Given the description of an element on the screen output the (x, y) to click on. 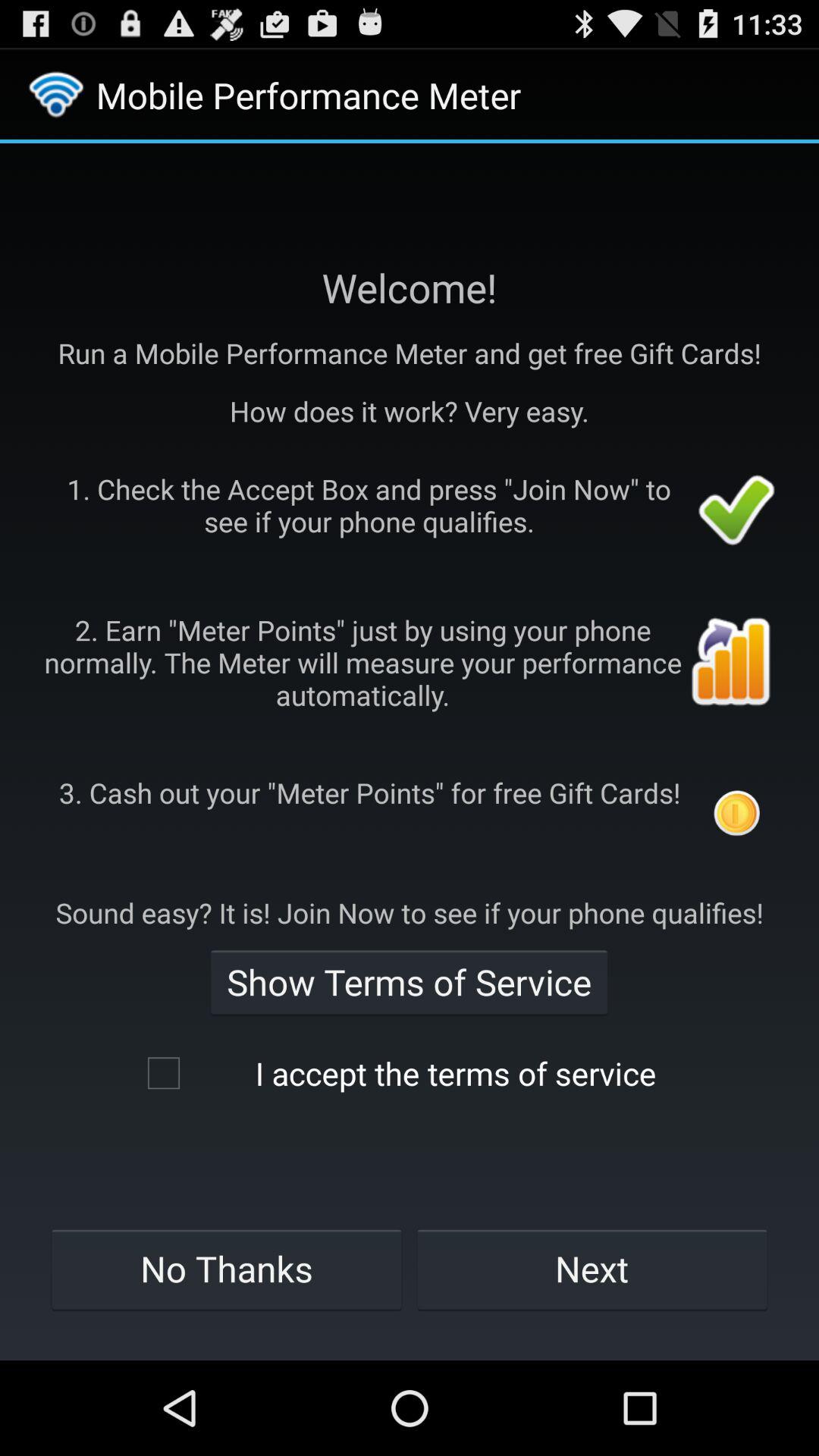
choose icon below the i accept the item (592, 1268)
